Given the description of an element on the screen output the (x, y) to click on. 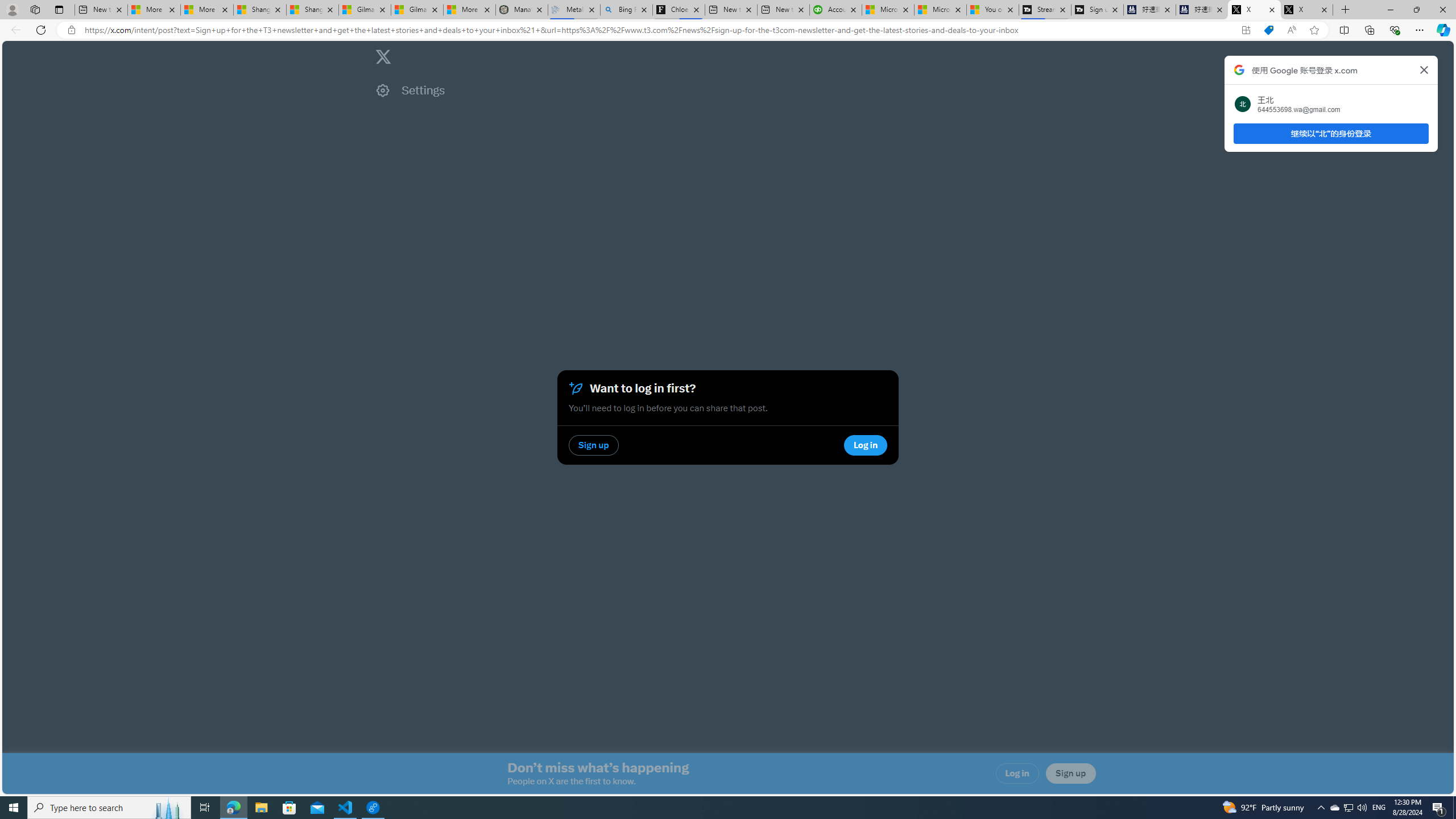
App available. Install X (1245, 29)
Chloe Sorvino (678, 9)
Class: Bz112c Bz112c-r9oPif (1423, 69)
Accounting Software for Accountants, CPAs and Bookkeepers (835, 9)
Manatee Mortality Statistics | FWC (521, 9)
